Given the description of an element on the screen output the (x, y) to click on. 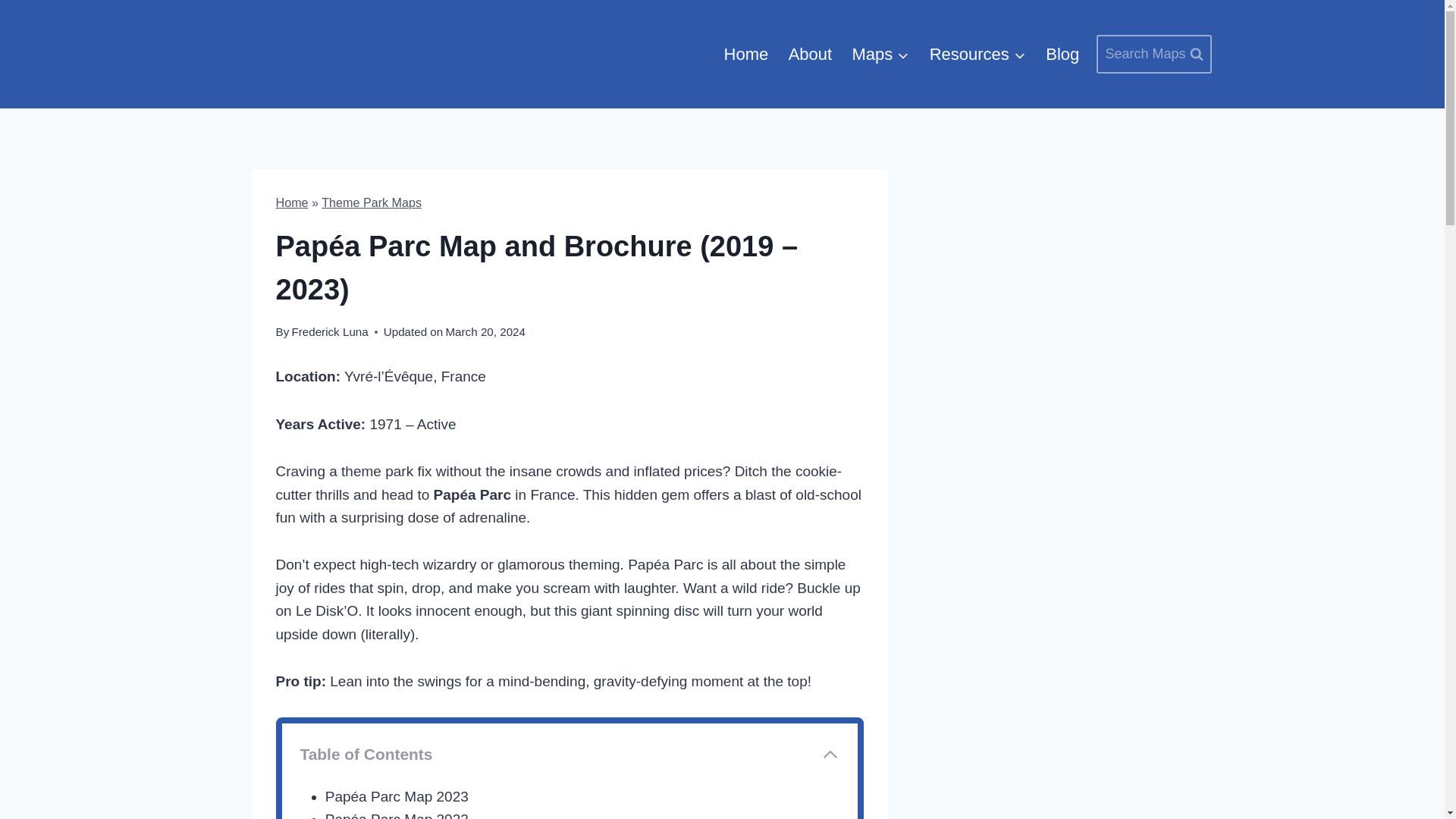
Home (745, 54)
Resources (976, 54)
Maps (879, 54)
Search Maps (1153, 54)
Theme Park Maps (371, 202)
Blog (1062, 54)
Home (292, 202)
Table of Contents (569, 754)
About (809, 54)
